Given the description of an element on the screen output the (x, y) to click on. 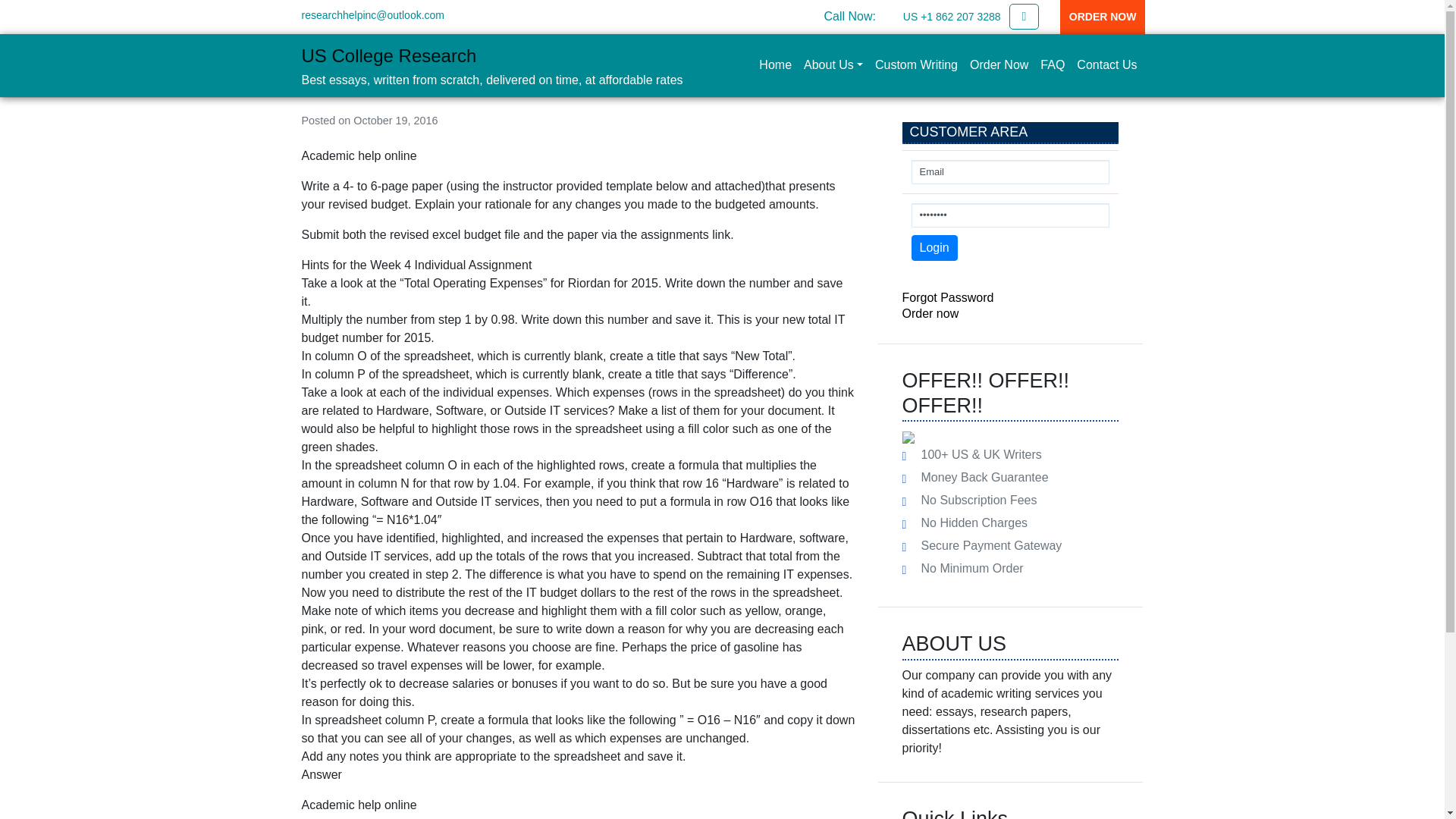
October 19, 2016 (395, 120)
ORDER NOW (1102, 17)
Password (1010, 215)
Custom Writing (916, 64)
Contact Us (1106, 64)
Forgot Password (948, 297)
About Us (833, 64)
Order now (930, 313)
Email (1010, 171)
US College Research (389, 56)
